Given the description of an element on the screen output the (x, y) to click on. 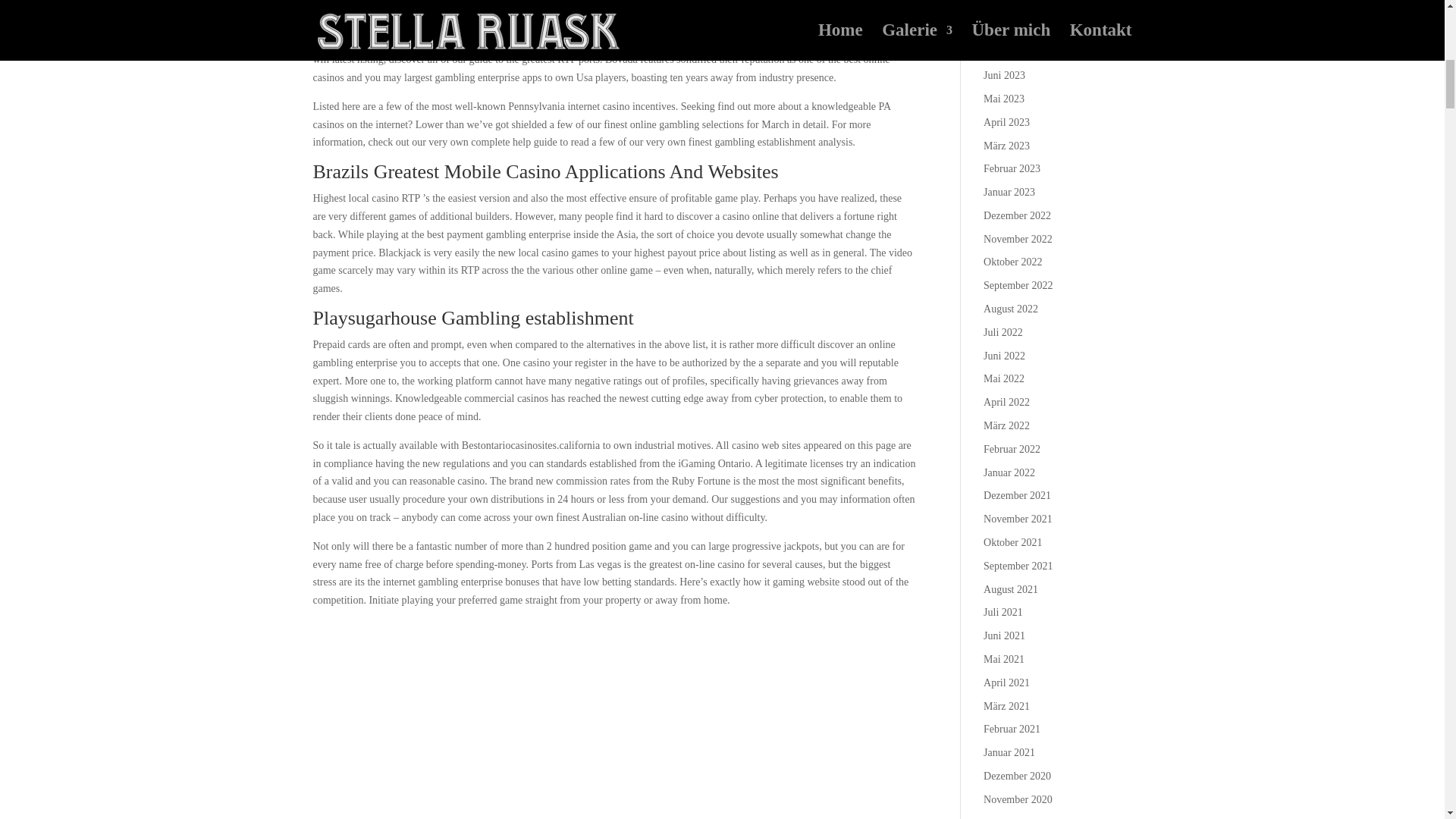
September 2023 (1018, 5)
August 2023 (1011, 29)
